Given the description of an element on the screen output the (x, y) to click on. 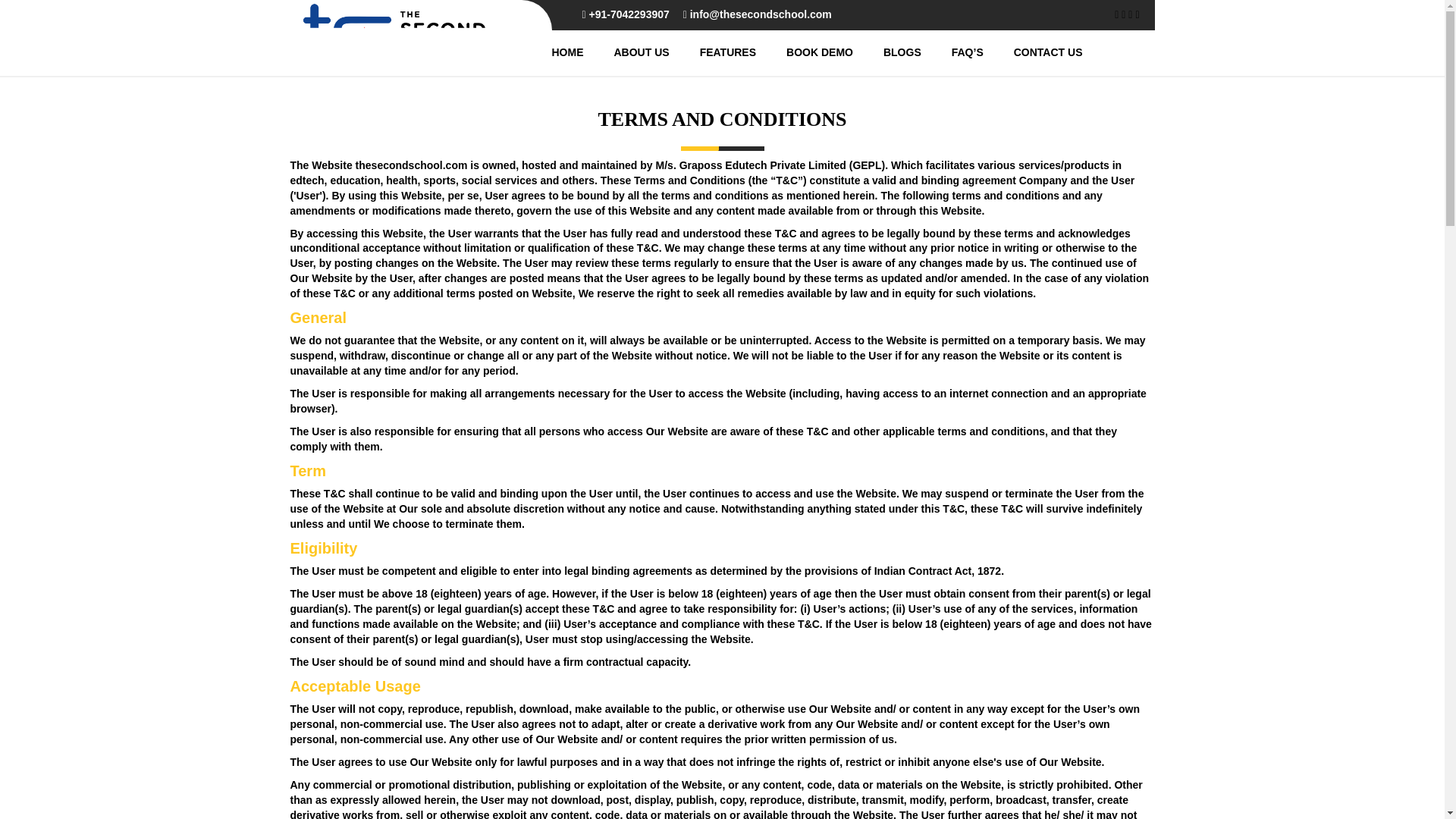
FEATURES (712, 51)
BLOGS (887, 51)
CONTACT US (1033, 51)
BOOK DEMO (804, 51)
HOME (552, 51)
ABOUT US (626, 51)
